Given the description of an element on the screen output the (x, y) to click on. 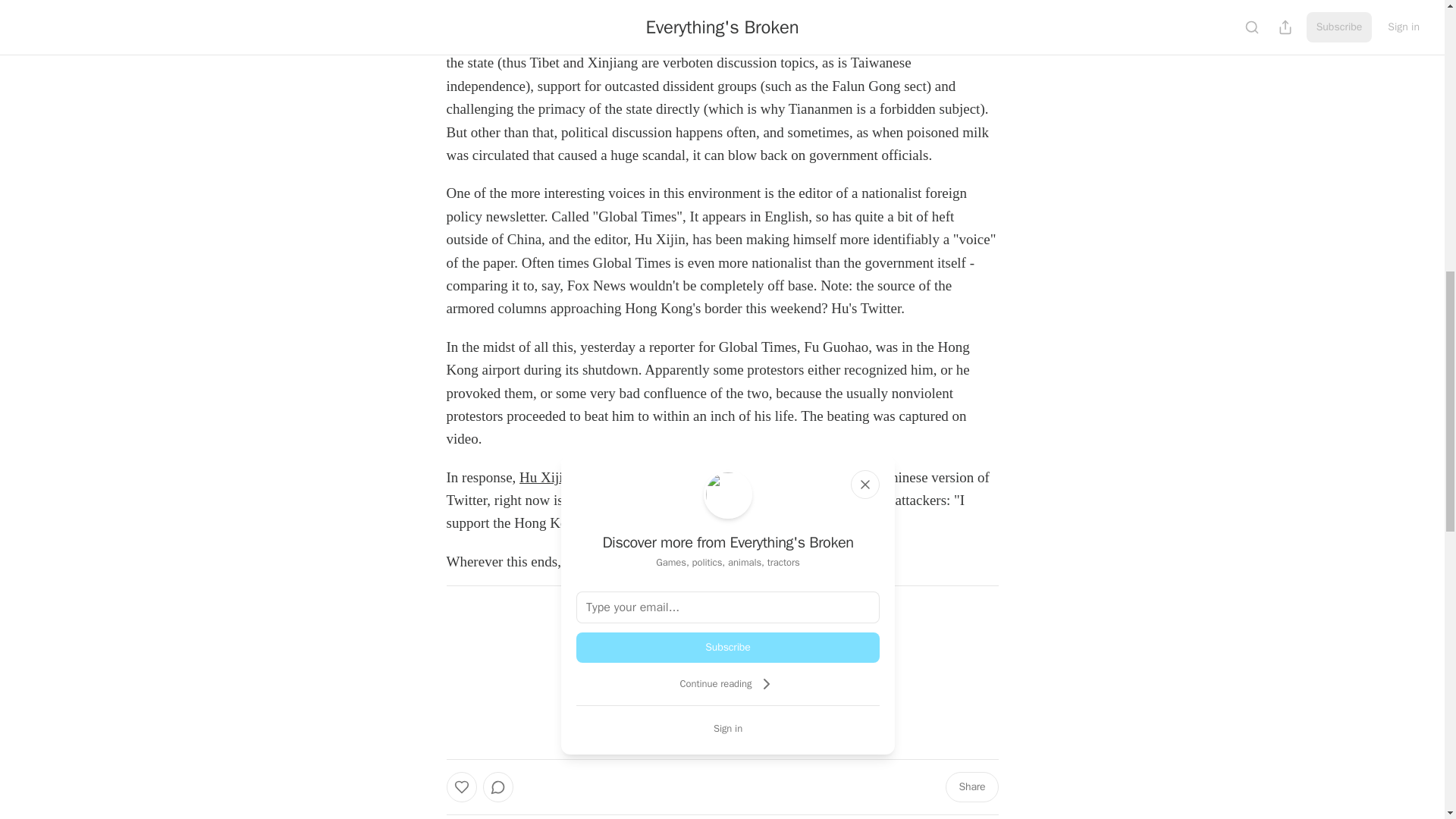
Sign in (727, 727)
Subscribe (727, 647)
Hu Xijin has made Fu Guohao a hero (627, 477)
Subscribe (827, 719)
Share (970, 787)
